Given the description of an element on the screen output the (x, y) to click on. 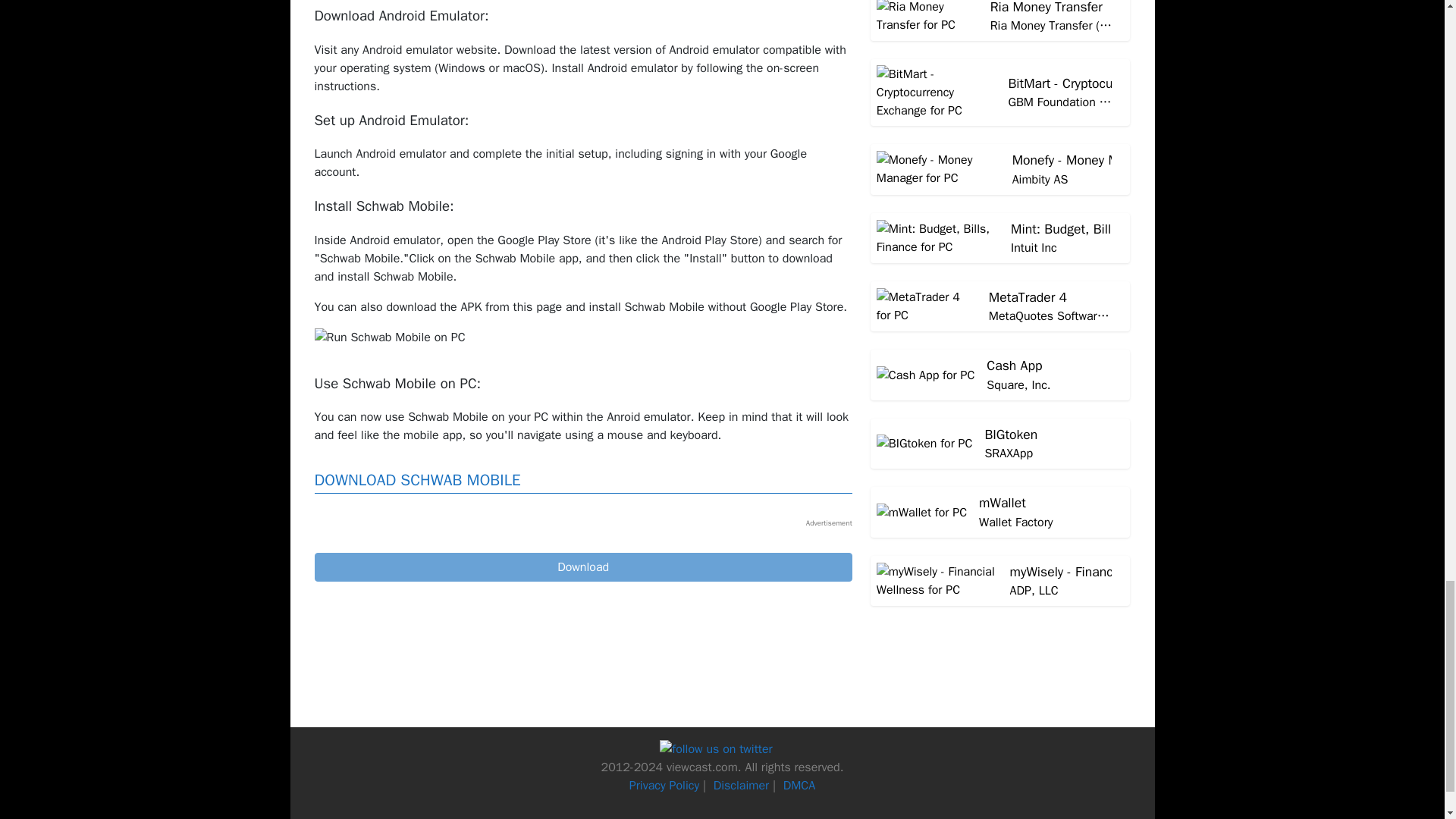
Download (582, 566)
Run Schwab Mobile on PC (389, 337)
Schwab Mobile (582, 566)
